Given the description of an element on the screen output the (x, y) to click on. 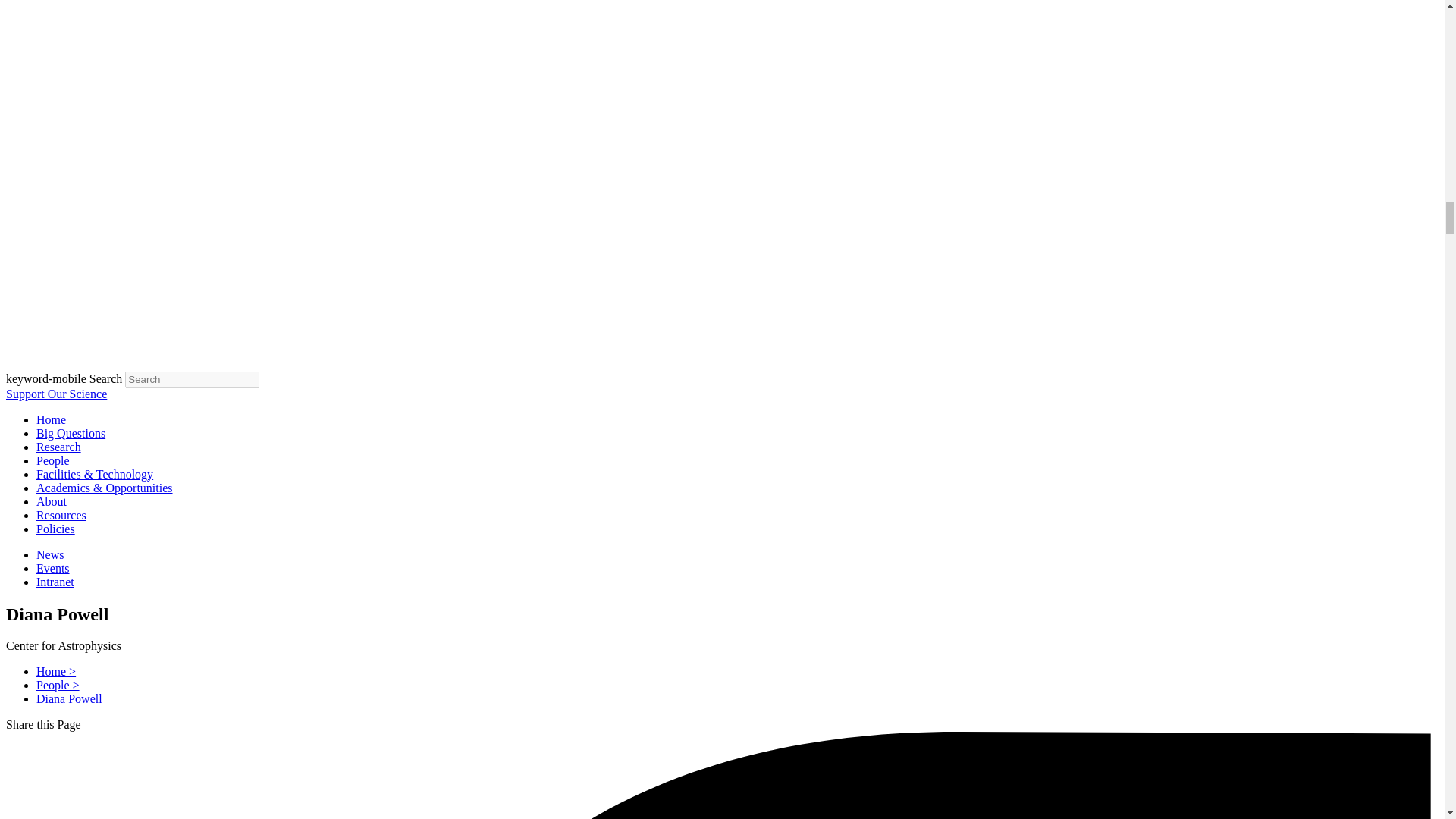
People (52, 460)
News (50, 554)
Big Questions (70, 432)
Home (50, 419)
Diana Powell (68, 698)
Policies (55, 528)
Resources (60, 514)
Support Our Science (55, 393)
About (51, 501)
Research (58, 446)
Intranet (55, 581)
People (52, 460)
Events (52, 567)
Intranet (55, 581)
